Given the description of an element on the screen output the (x, y) to click on. 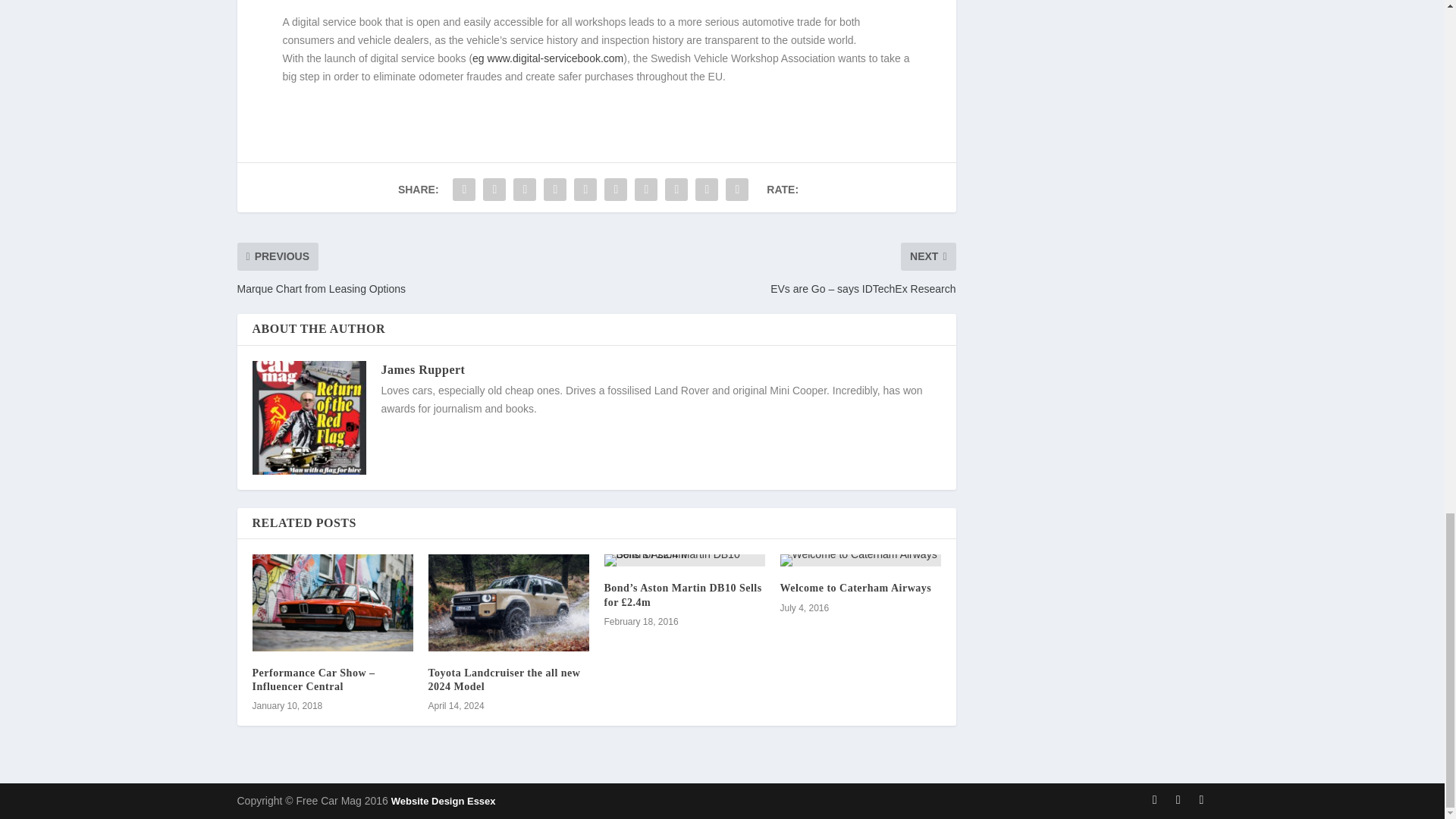
eg www.digital-servicebook.com (547, 58)
View all posts by James Ruppert (422, 369)
James Ruppert (422, 369)
